Given the description of an element on the screen output the (x, y) to click on. 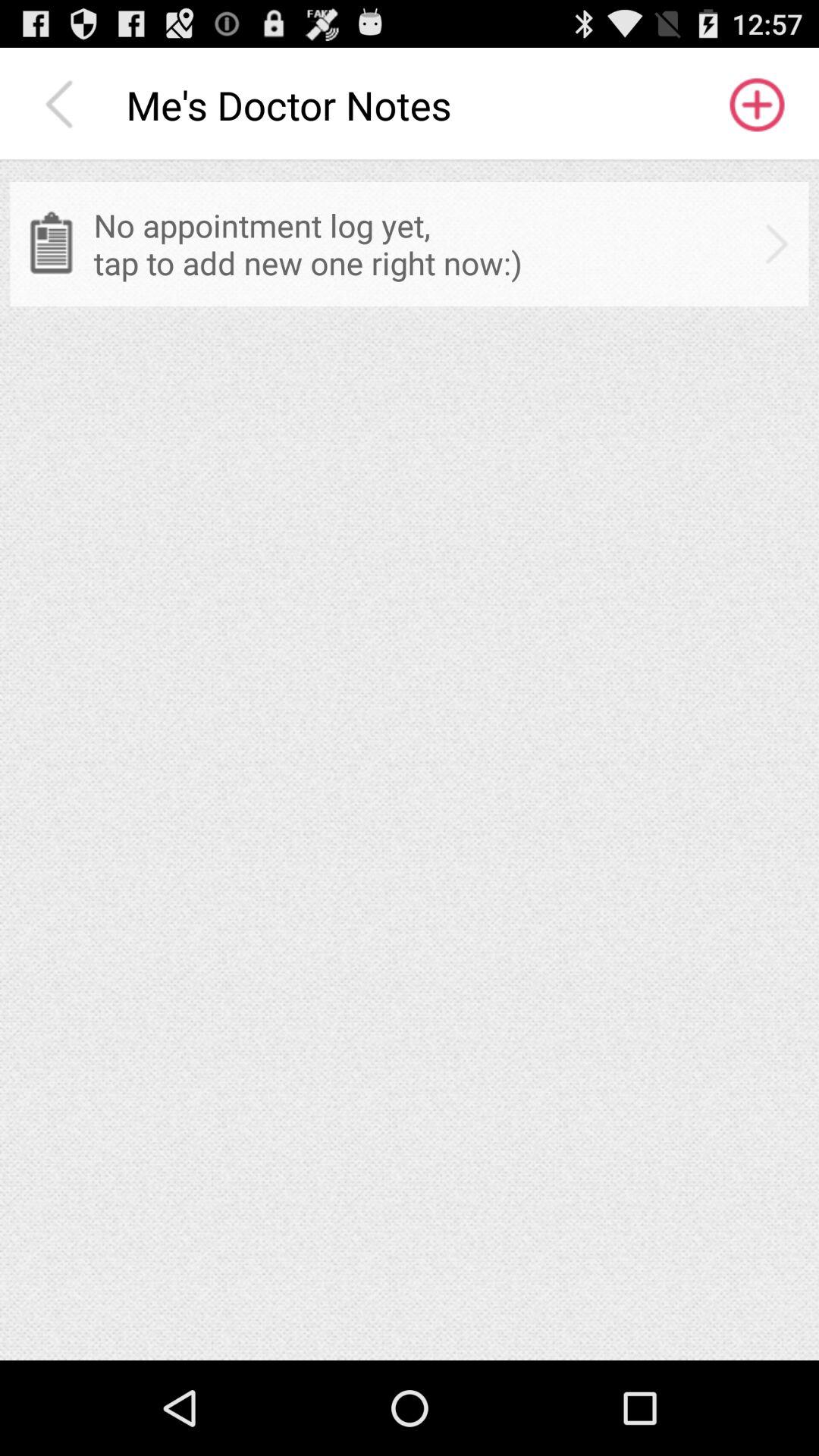
select item next to me s doctor (63, 104)
